Given the description of an element on the screen output the (x, y) to click on. 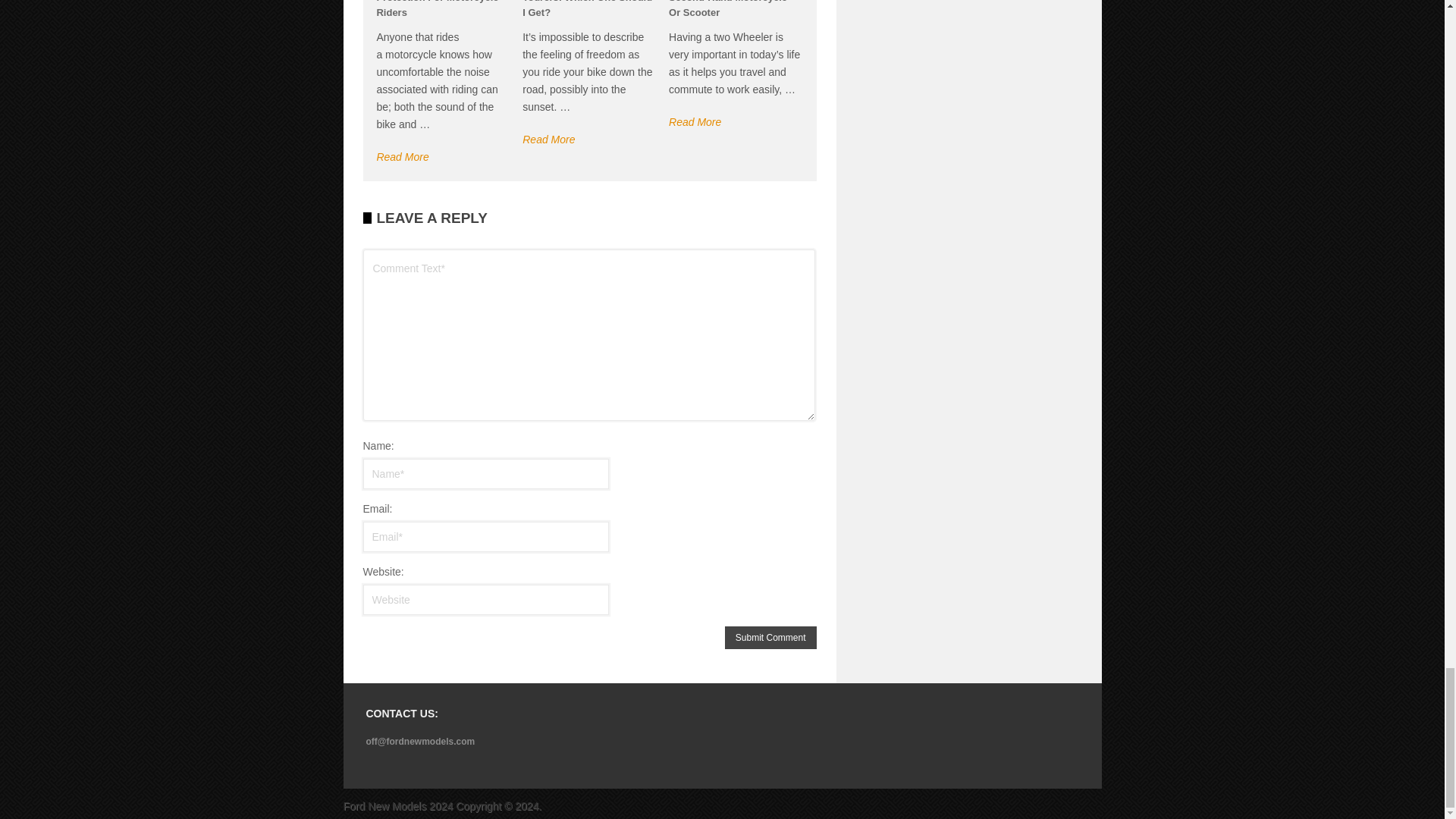
Submit Comment (770, 637)
